Given the description of an element on the screen output the (x, y) to click on. 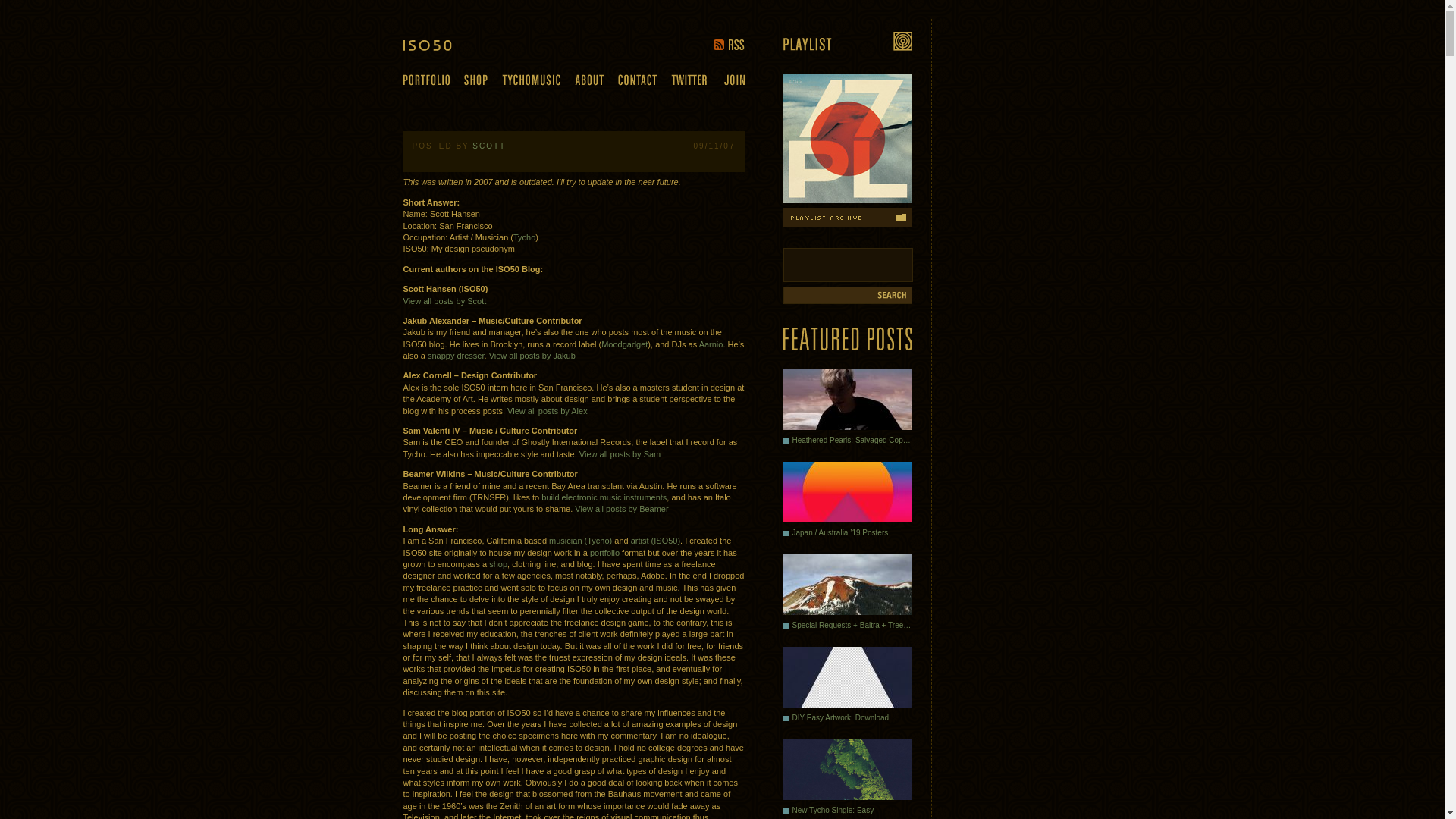
ISO50 (438, 44)
Join (733, 79)
Shop (475, 79)
Twitter (687, 79)
View all posts by Beamer (621, 508)
snappy dresser (456, 355)
3:04 pm (714, 145)
View all posts by Jakub (532, 355)
RSS (728, 44)
build electronic music instruments (603, 497)
